Given the description of an element on the screen output the (x, y) to click on. 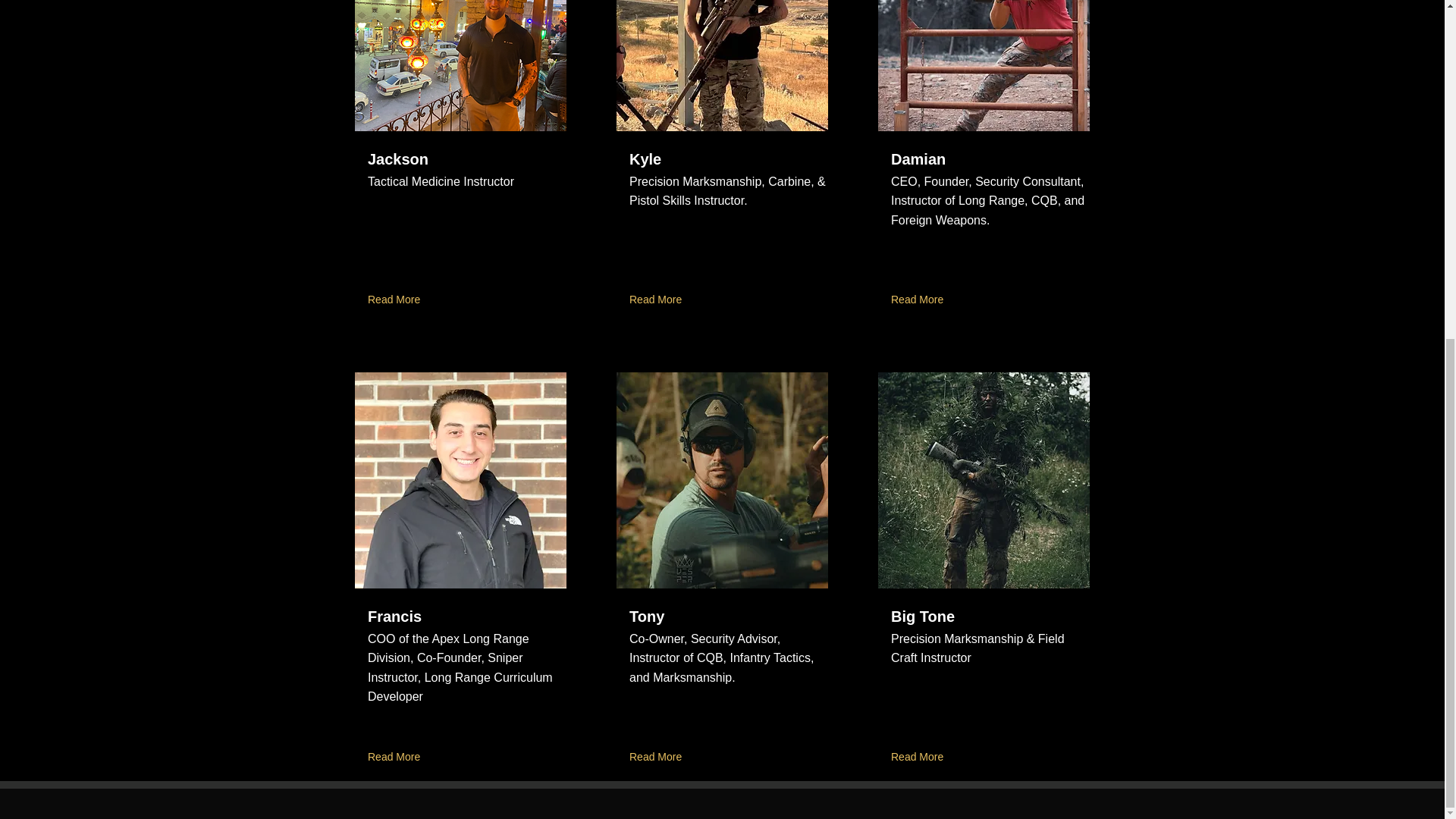
Read More (657, 757)
Read More (657, 300)
Read More (920, 300)
Read More (397, 300)
Read More (920, 757)
Read More (397, 757)
